Given the description of an element on the screen output the (x, y) to click on. 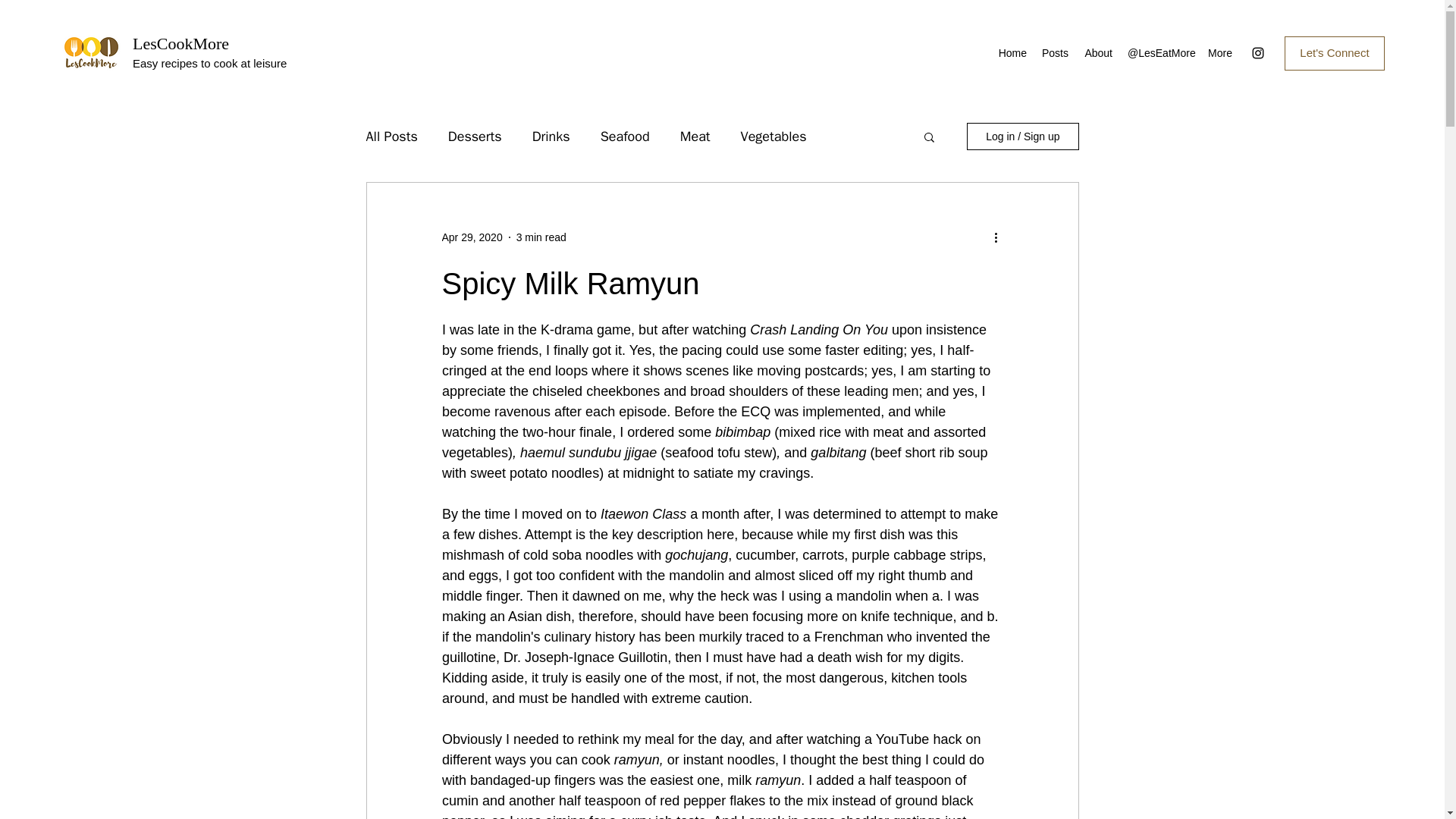
Vegetables (773, 136)
Drinks (551, 136)
About (1096, 52)
3 min read (541, 236)
Meat (694, 136)
LesCookMore (180, 43)
Apr 29, 2020 (471, 236)
Let's Connect (1334, 53)
Desserts (475, 136)
Seafood (624, 136)
